Given the description of an element on the screen output the (x, y) to click on. 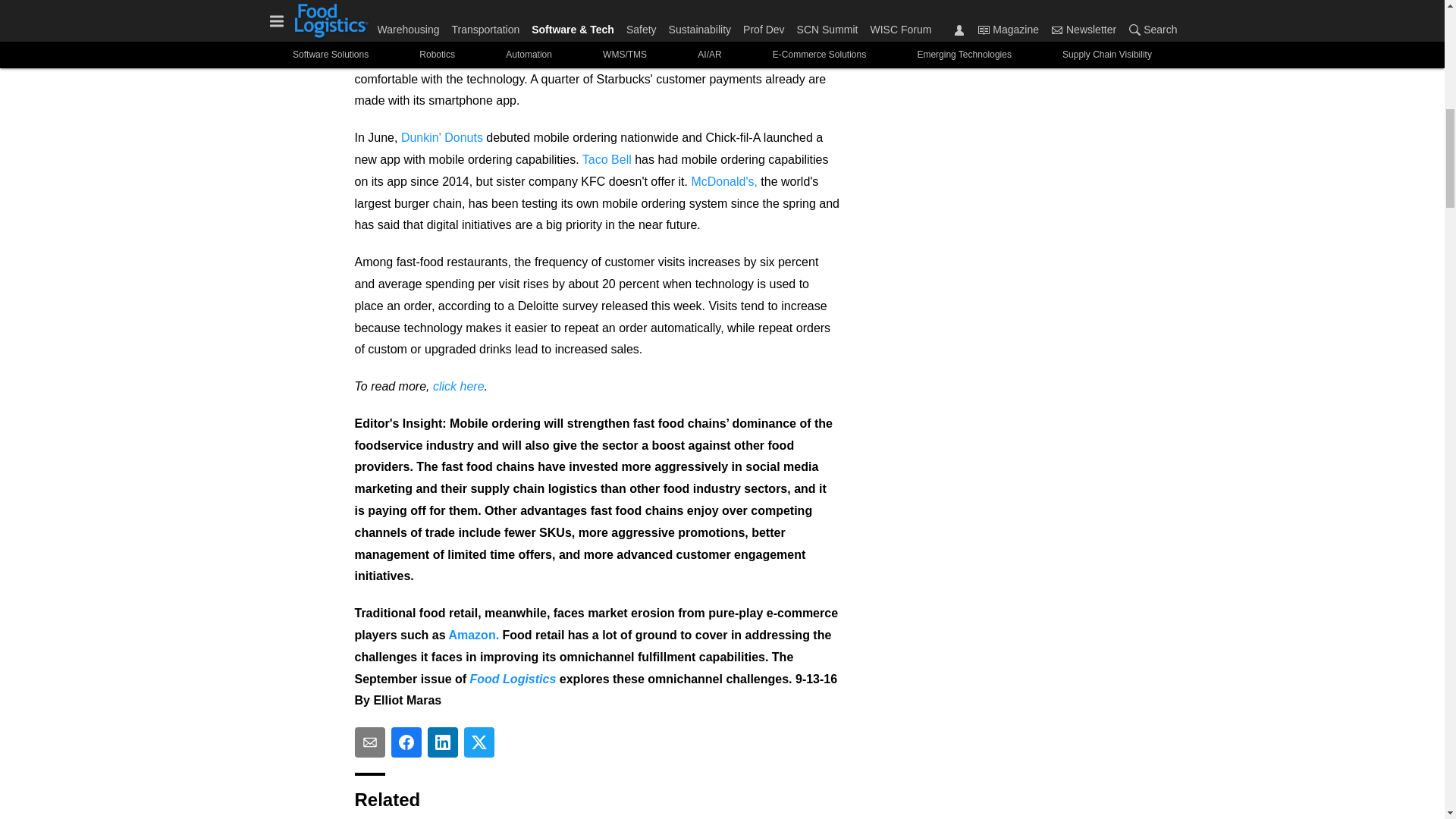
Share To twitter (479, 742)
Share To email (370, 742)
Share To facebook (406, 742)
Share To linkedin (443, 742)
